Given the description of an element on the screen output the (x, y) to click on. 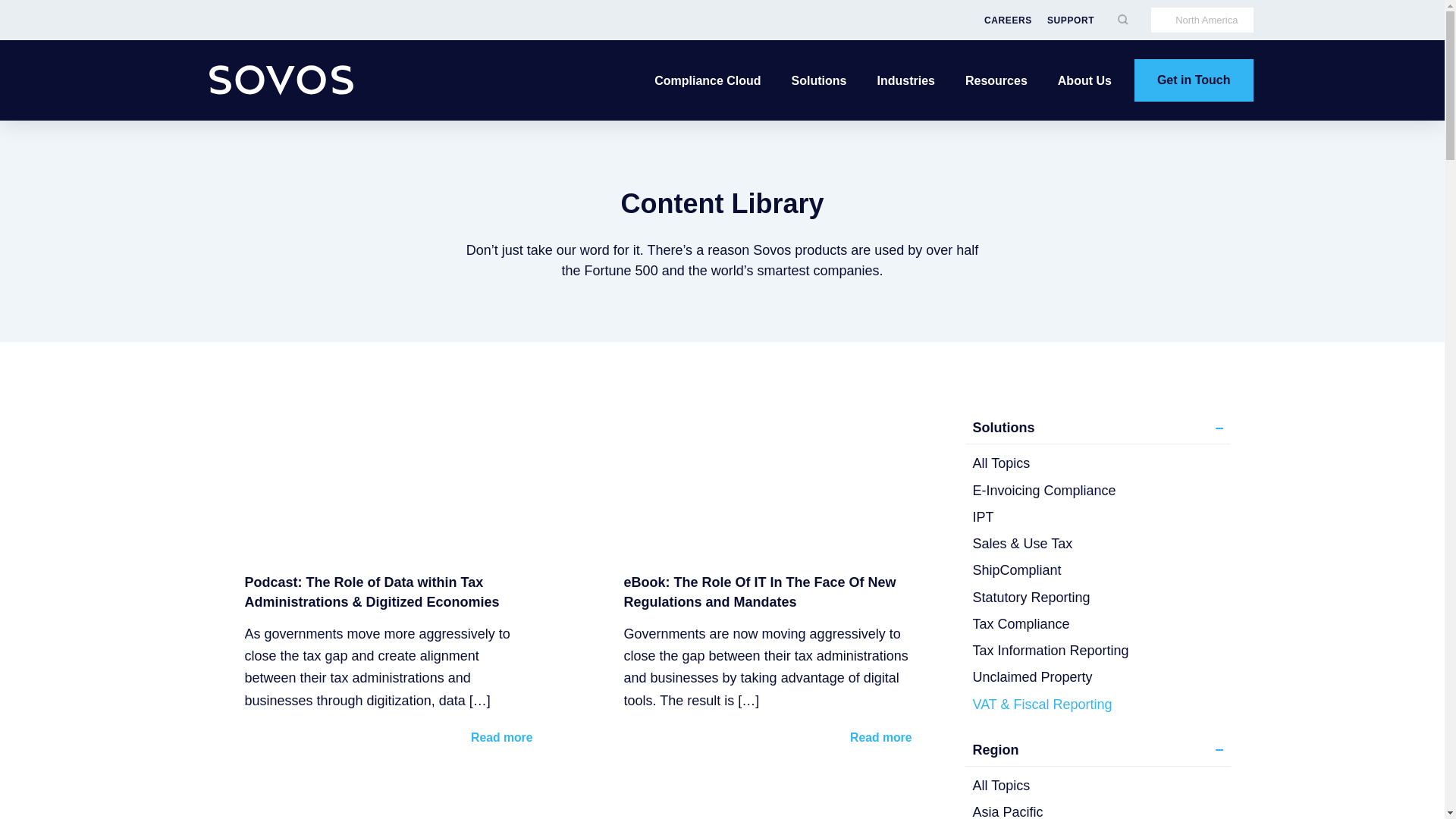
Solutions (818, 80)
Compliance Cloud (707, 80)
SUPPORT (1070, 20)
North America (1201, 19)
CAREERS (1007, 20)
